Given the description of an element on the screen output the (x, y) to click on. 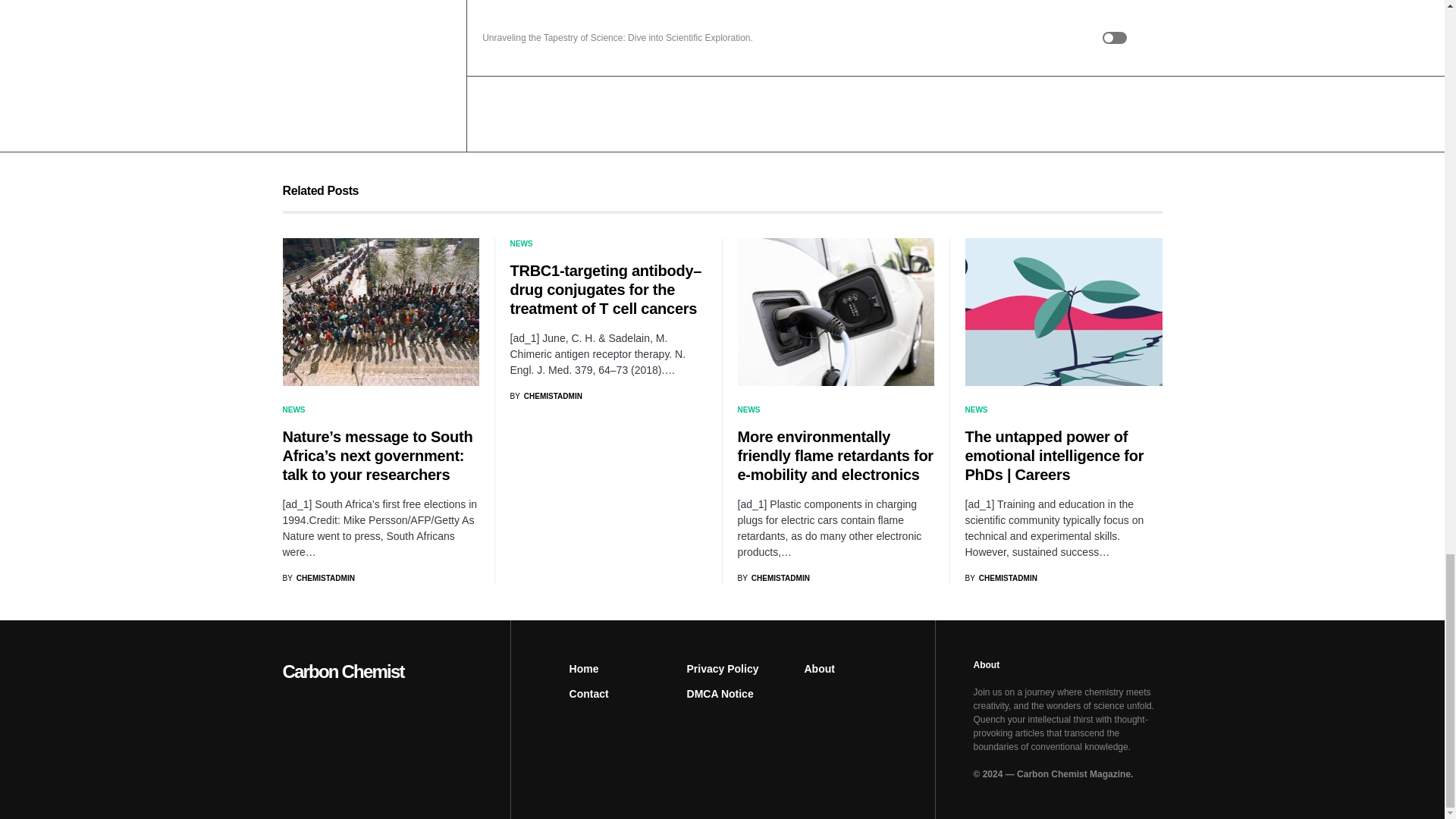
View all posts by chemistadmin (544, 396)
View all posts by chemistadmin (999, 577)
View all posts by chemistadmin (317, 577)
View all posts by chemistadmin (772, 577)
